Given the description of an element on the screen output the (x, y) to click on. 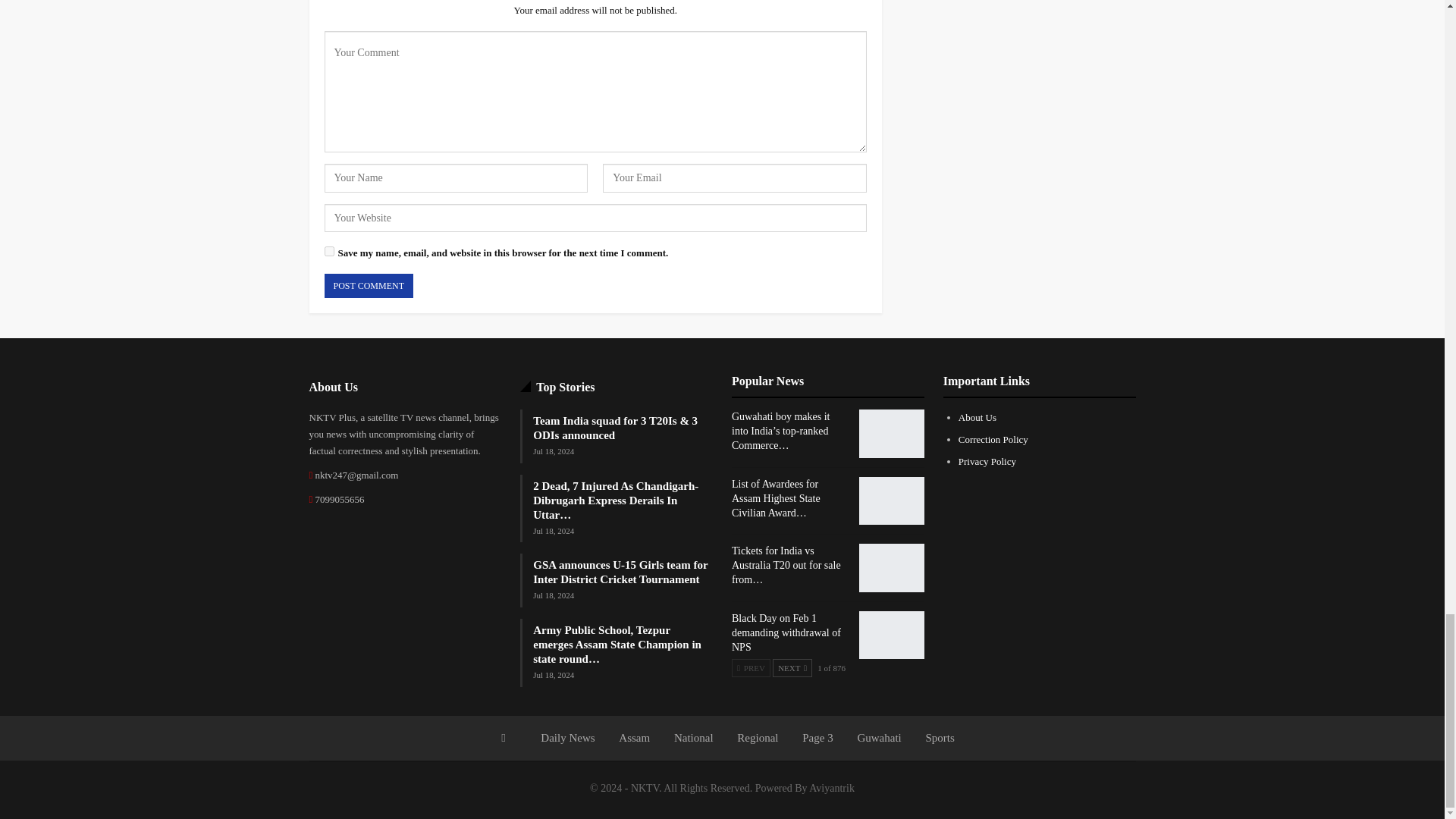
yes (329, 251)
Post Comment (368, 285)
